Given the description of an element on the screen output the (x, y) to click on. 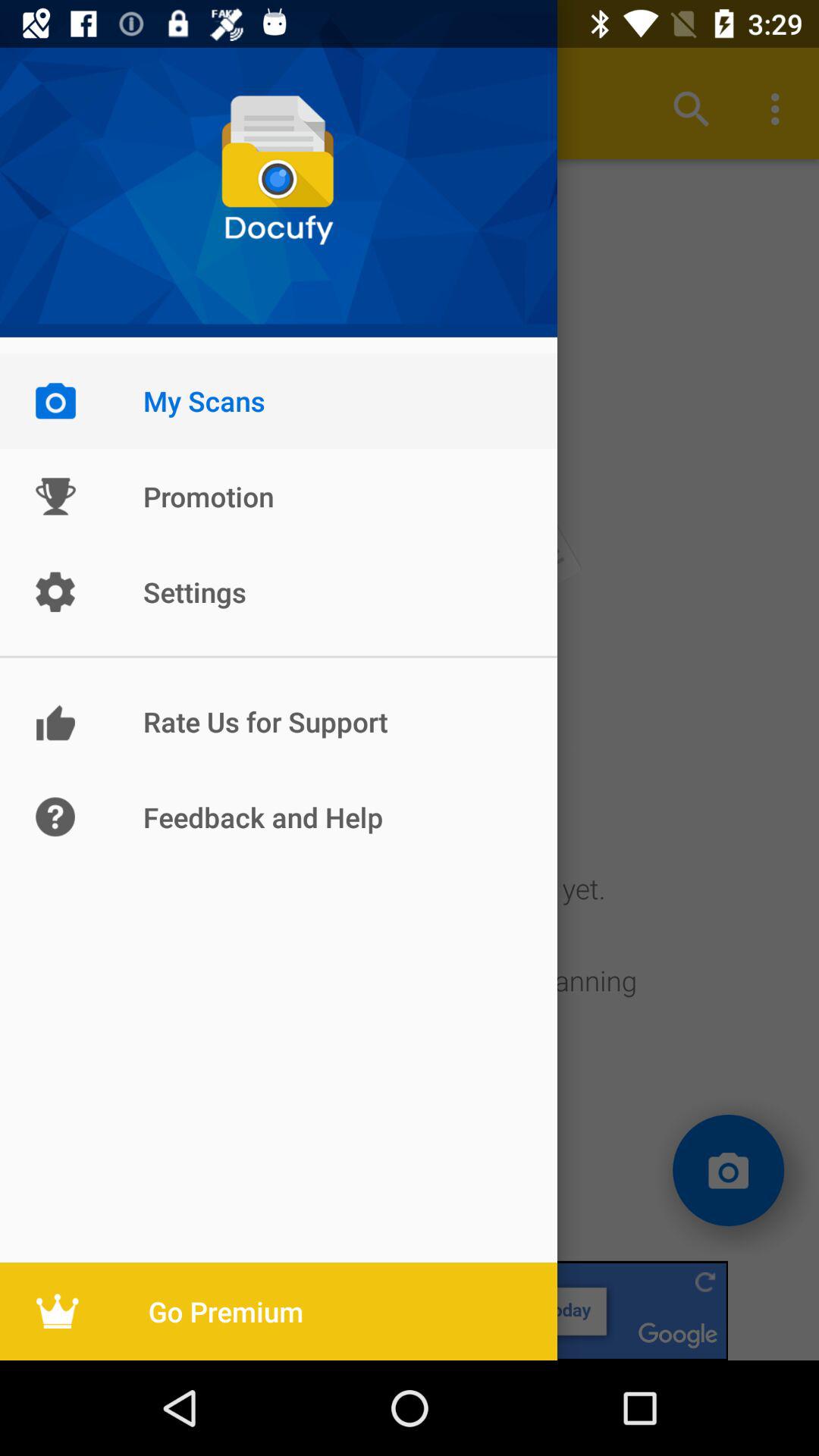
select camera icon which is at right bottom side of the page (728, 1170)
click on camera button which is at bottom right corner of page (728, 1171)
